Given the description of an element on the screen output the (x, y) to click on. 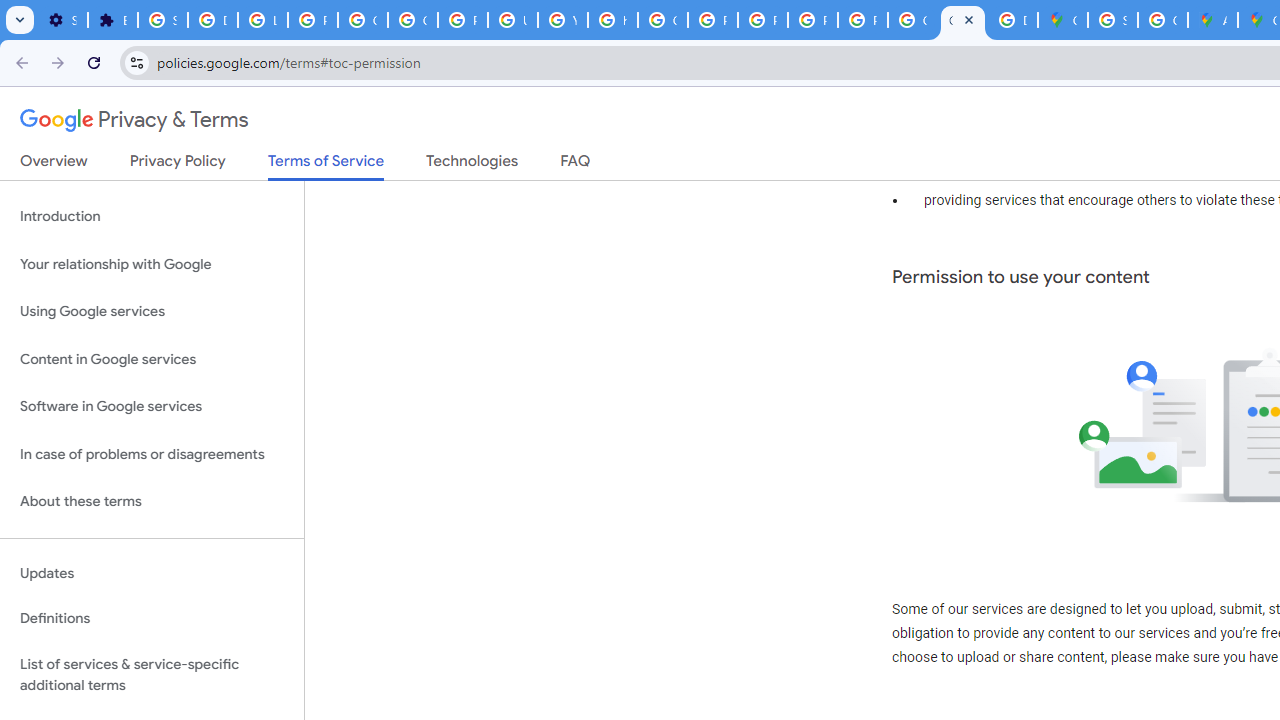
Technologies (472, 165)
Delete photos & videos - Computer - Google Photos Help (213, 20)
Sign in - Google Accounts (1112, 20)
Sign in - Google Accounts (163, 20)
Privacy & Terms (134, 120)
Privacy Policy (177, 165)
Definitions (152, 619)
Forward (57, 62)
Back (19, 62)
Using Google services (152, 312)
Content in Google services (152, 358)
